Given the description of an element on the screen output the (x, y) to click on. 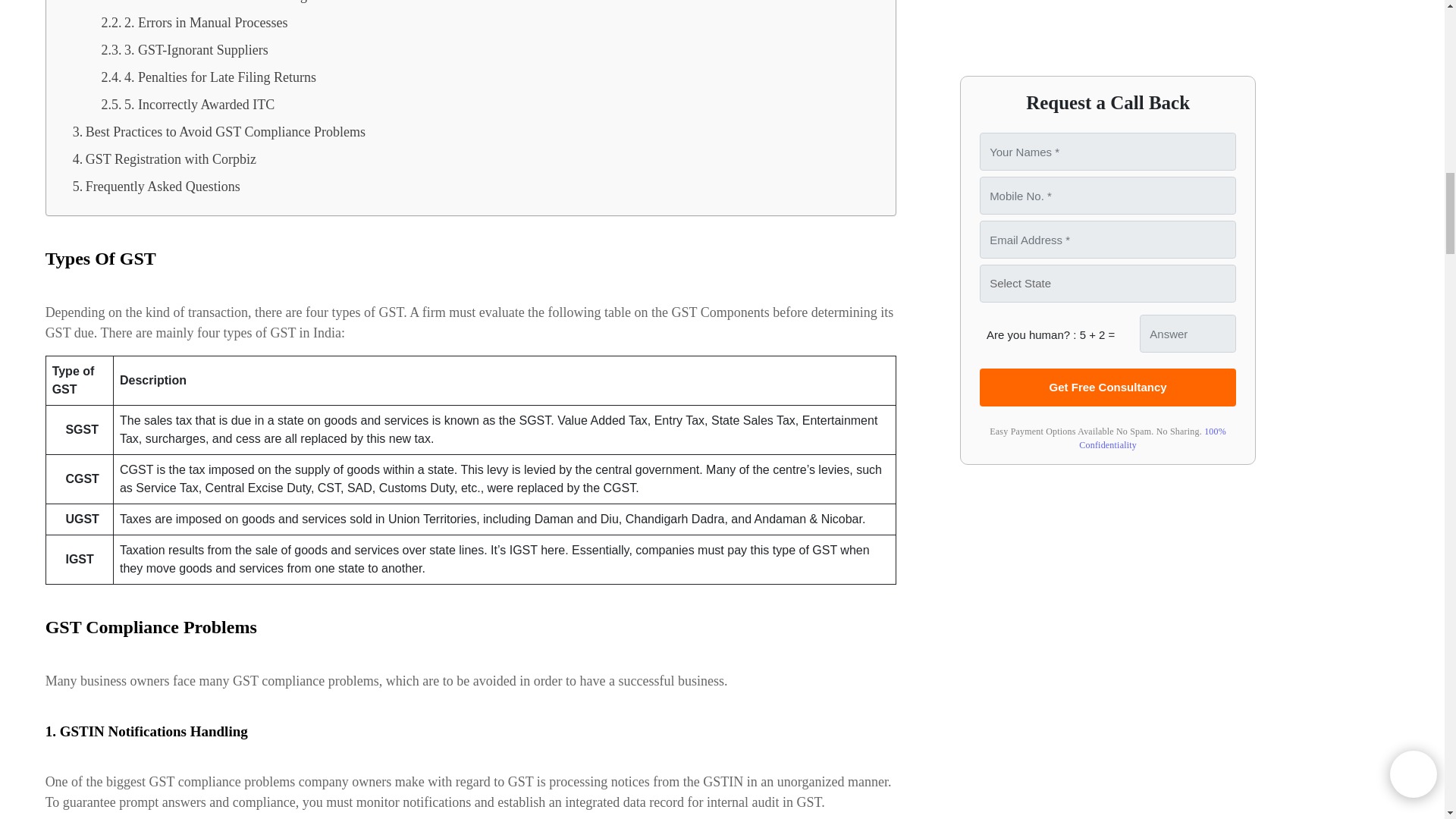
3. GST-Ignorant Suppliers (183, 49)
5. Incorrectly Awarded ITC (187, 103)
Best Practices to Avoid GST Compliance Problems (218, 131)
1. GSTIN Notifications Handling (203, 4)
4. Penalties for Late Filing Returns (207, 76)
GST Registration with Corpbiz (164, 158)
2. Errors in Manual Processes (193, 22)
Frequently Asked Questions (156, 185)
